Given the description of an element on the screen output the (x, y) to click on. 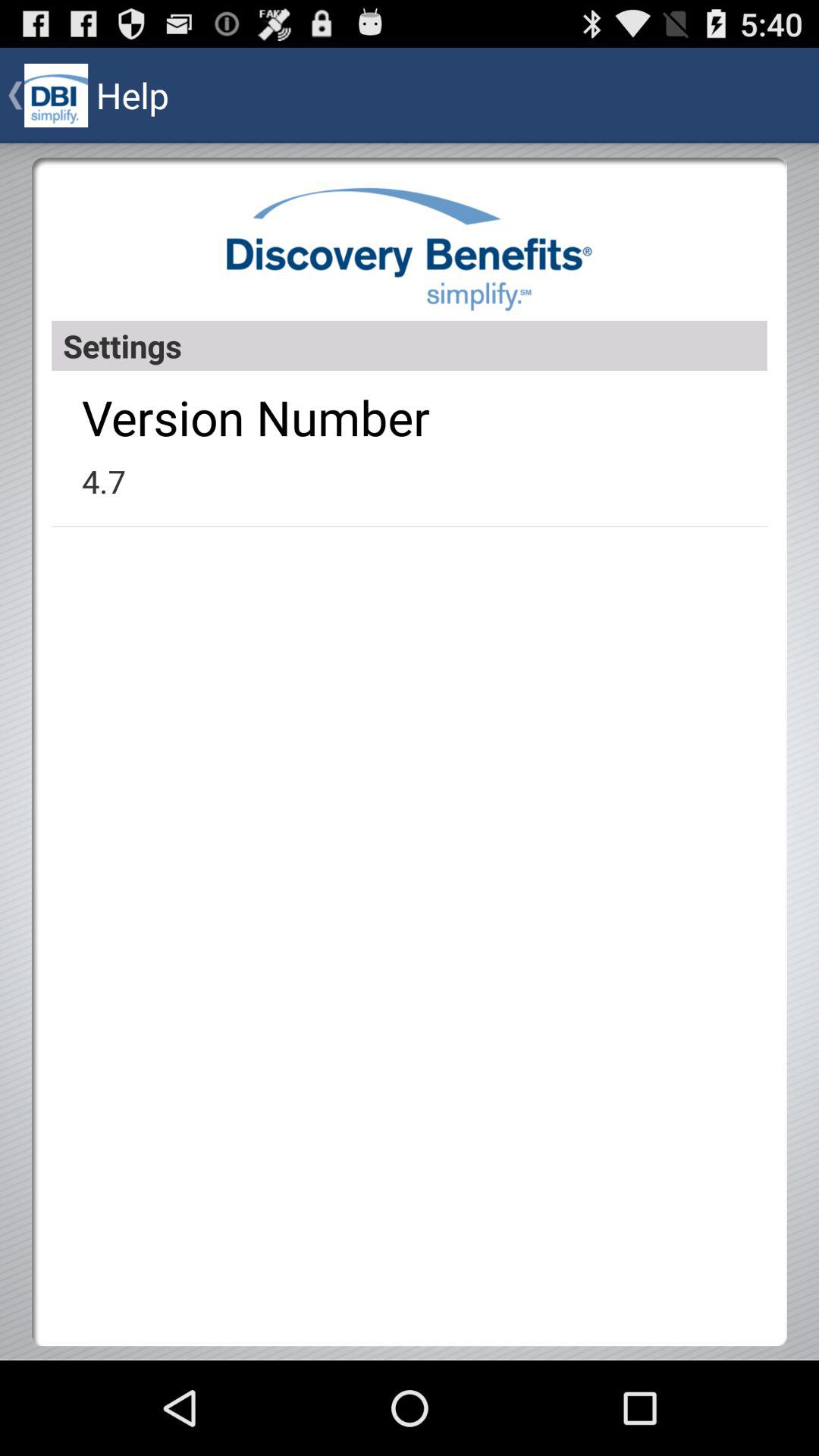
turn on the app below the version number (103, 480)
